Given the description of an element on the screen output the (x, y) to click on. 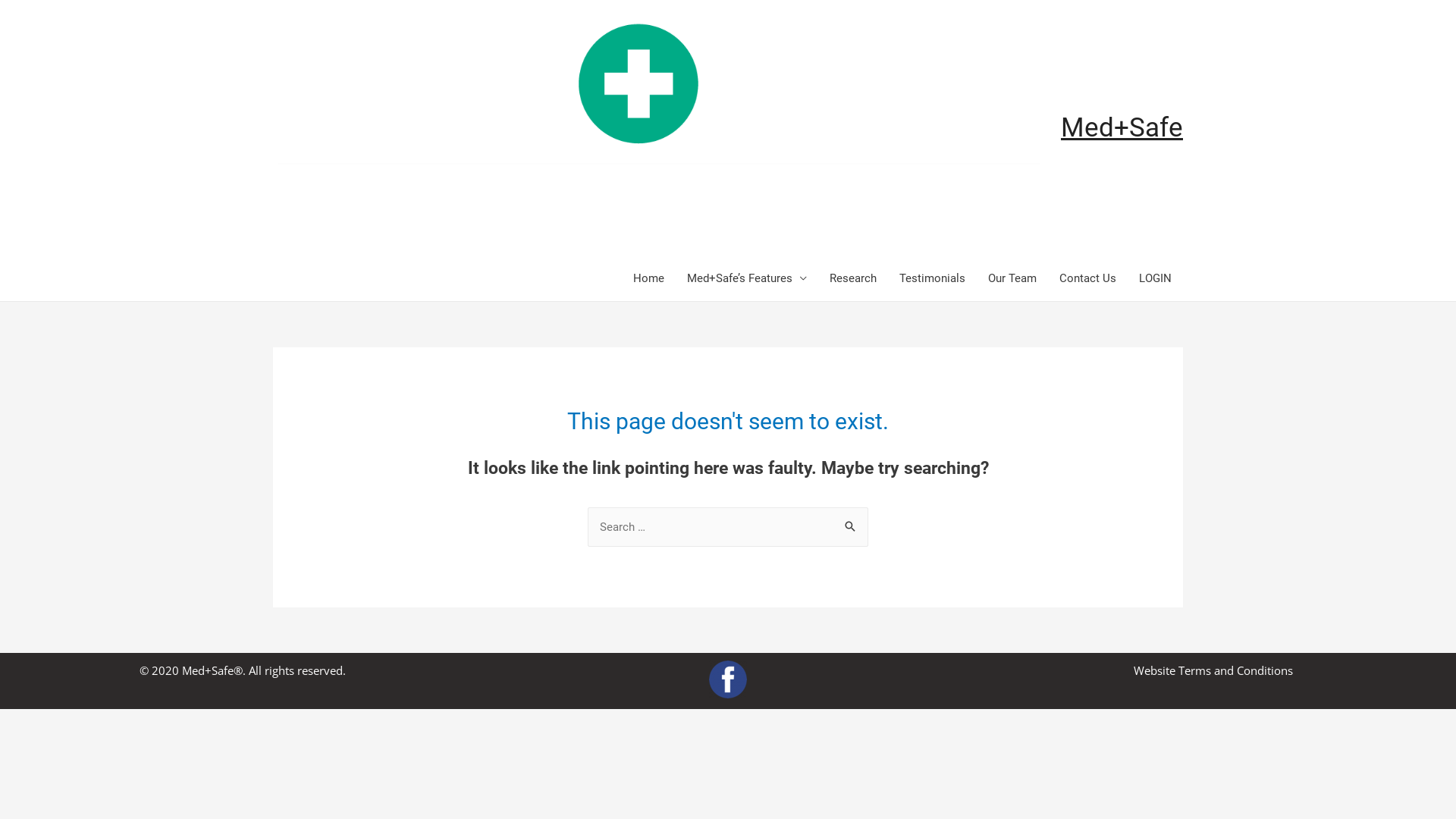
Search Element type: text (851, 522)
Home Element type: text (648, 278)
Our Team Element type: text (1012, 278)
Website Terms and Conditions Element type: text (1212, 669)
LOGIN Element type: text (1155, 278)
Med+Safe Element type: text (1121, 127)
Testimonials Element type: text (932, 278)
Research Element type: text (853, 278)
Contact Us Element type: text (1087, 278)
FaceBook Element type: hover (727, 679)
